Given the description of an element on the screen output the (x, y) to click on. 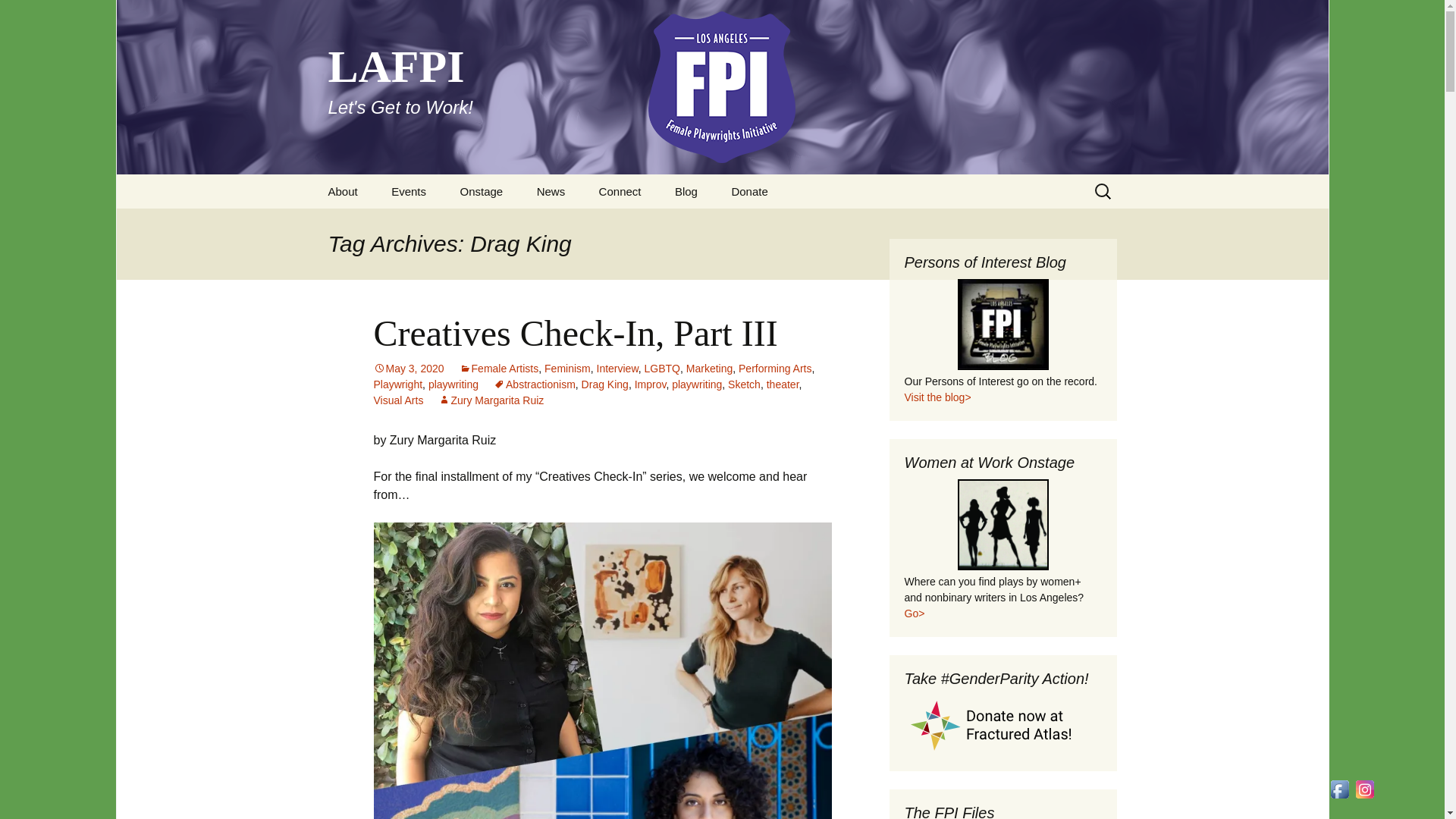
Zury Margarita Ruiz (490, 399)
theater (783, 384)
Donate (749, 191)
WAWO (1002, 524)
playwriting (453, 384)
Marketing (708, 368)
Playwright (397, 384)
Feminism (567, 368)
Creatives Check-In, Part III (574, 332)
Abstractionism (534, 384)
Join the FPI (659, 225)
News (550, 191)
May 3, 2020 (408, 368)
Events (408, 191)
